Given the description of an element on the screen output the (x, y) to click on. 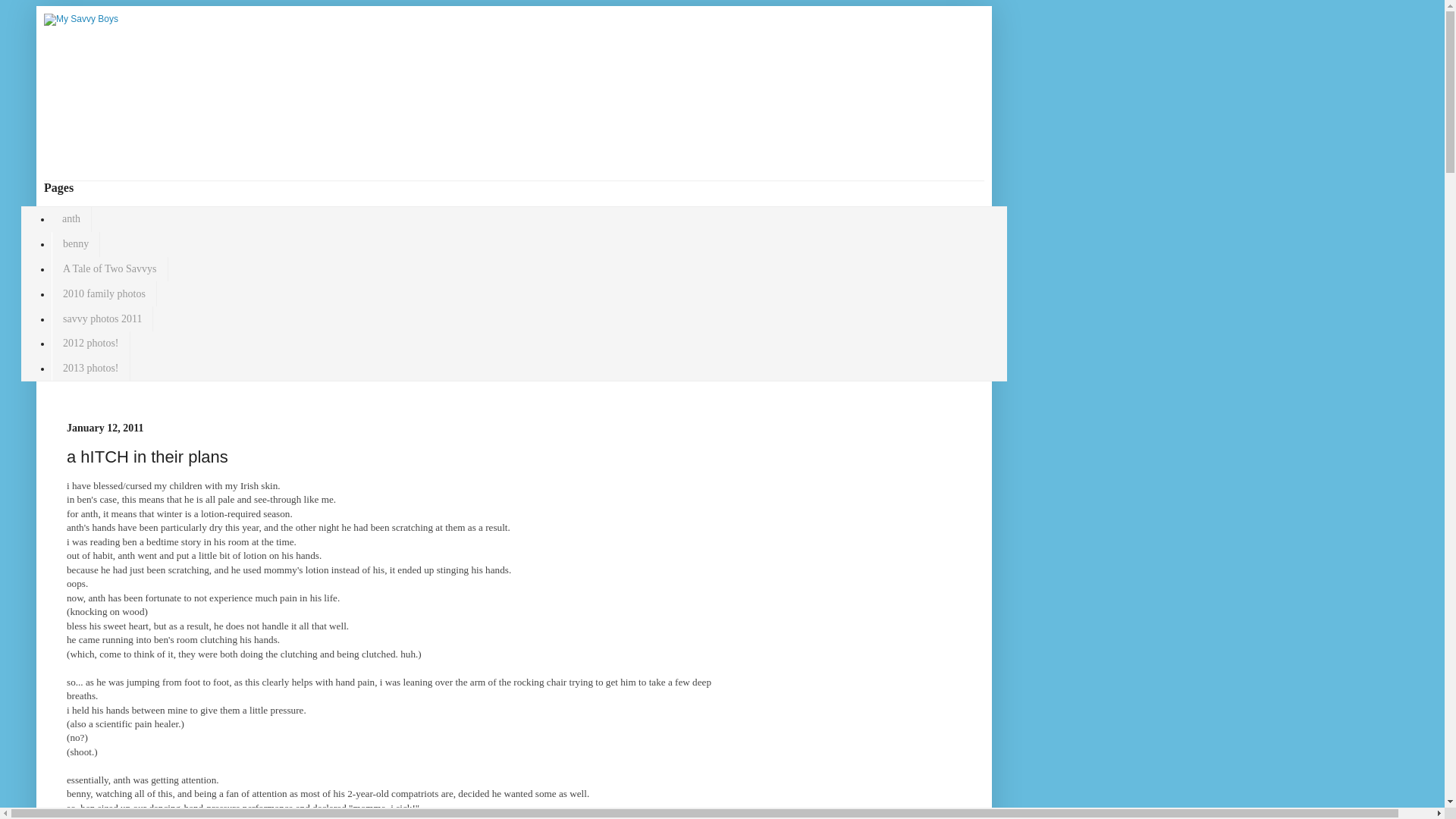
benny (75, 244)
A Tale of Two Savvys (109, 269)
savvy photos 2011 (101, 318)
2012 photos! (90, 343)
anth (70, 219)
2013 photos! (90, 368)
2010 family photos (103, 293)
